Given the description of an element on the screen output the (x, y) to click on. 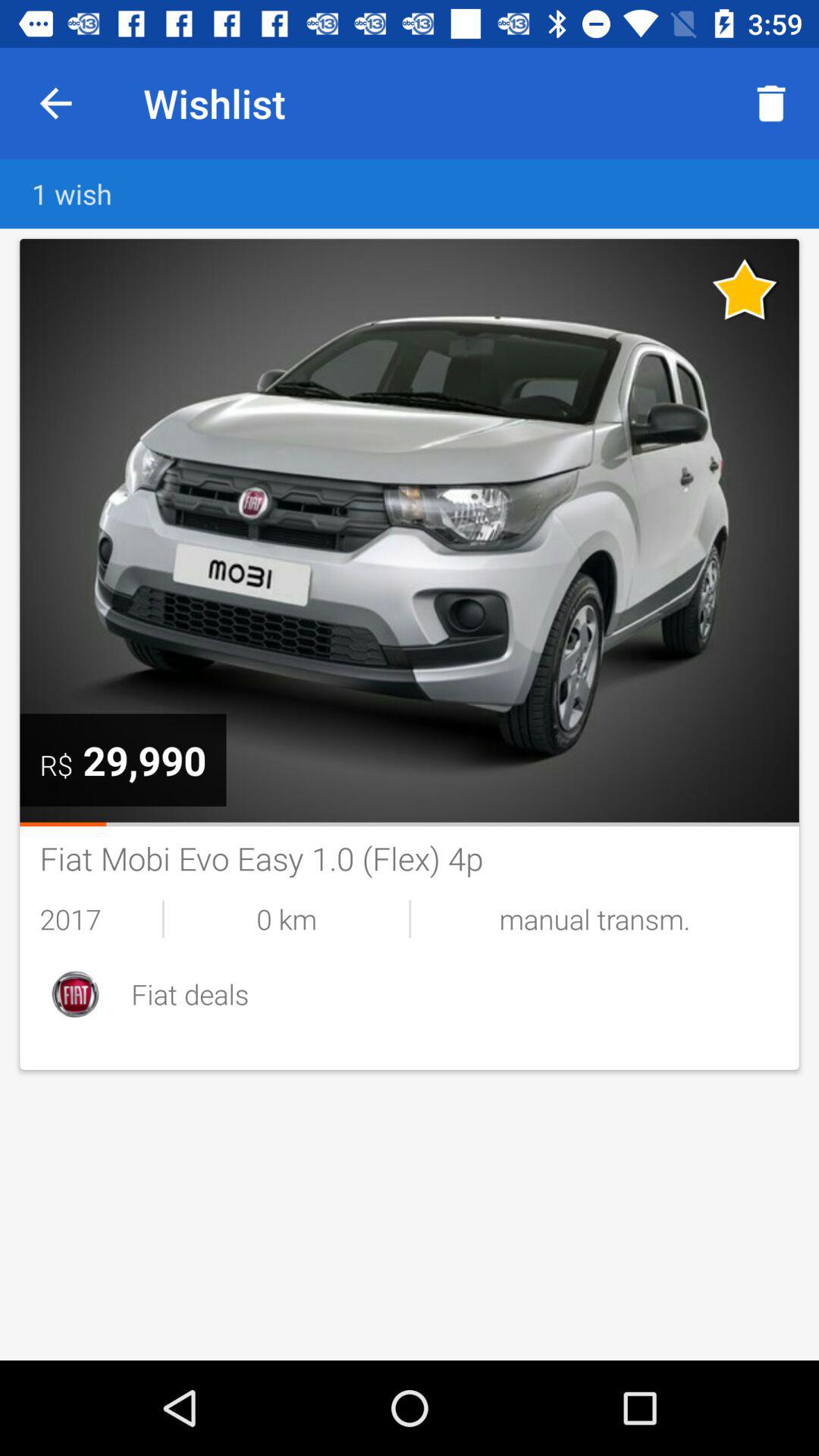
swipe to the fiat deals (455, 993)
